Given the description of an element on the screen output the (x, y) to click on. 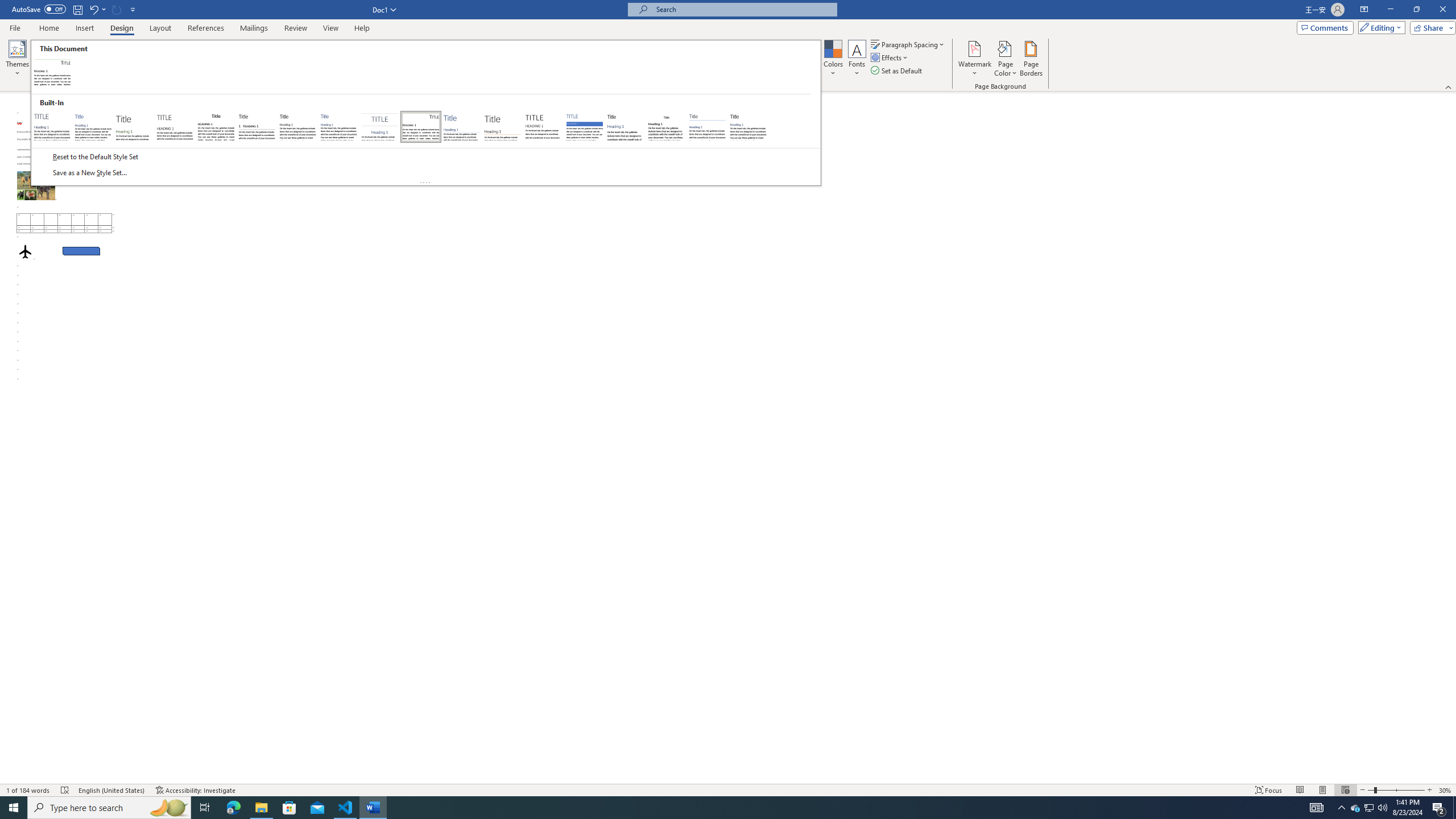
Fonts (856, 58)
Word - 1 running window (373, 807)
Paragraph Spacing (908, 44)
Page Borders... (1031, 58)
